Given the description of an element on the screen output the (x, y) to click on. 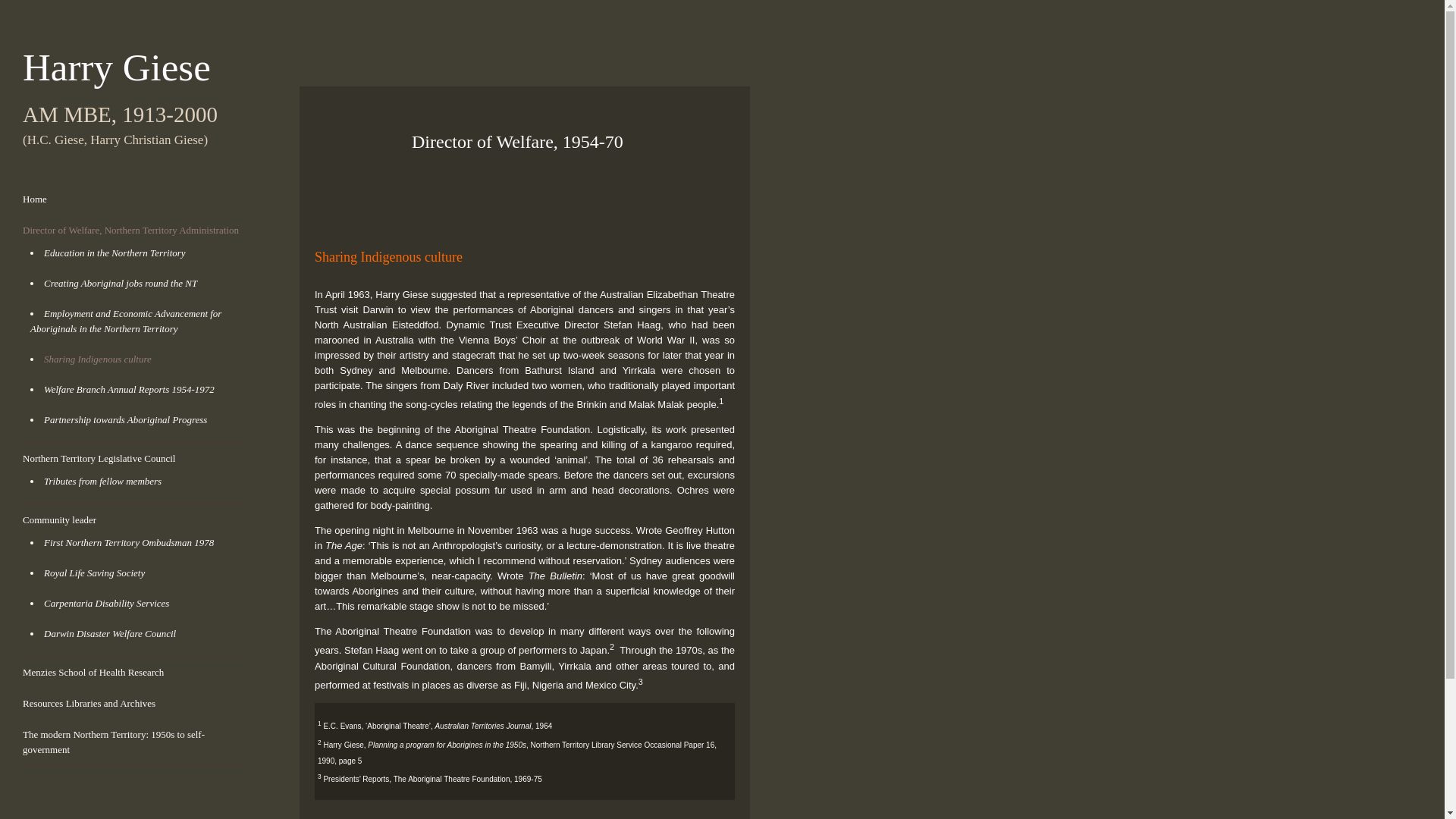
Royal Life Saving Society (93, 572)
Northern Territory Legislative Council (98, 458)
Partnership towards Aboriginal Progress (124, 419)
Creating Aboriginal jobs round the NT (119, 283)
Director of Welfare, Northern Territory Administration (130, 229)
Tributes from fellow members (102, 480)
Community leader (59, 519)
Education in the Northern Territory (114, 252)
The modern Northern Territory: 1950s to self-government (114, 741)
Menzies School of Health Research (93, 672)
Resources Libraries and Archives (89, 703)
Sharing Indigenous culture (97, 358)
Welfare Branch Annual Reports 1954-1972 (128, 389)
Carpentaria Disability Services (105, 603)
